Given the description of an element on the screen output the (x, y) to click on. 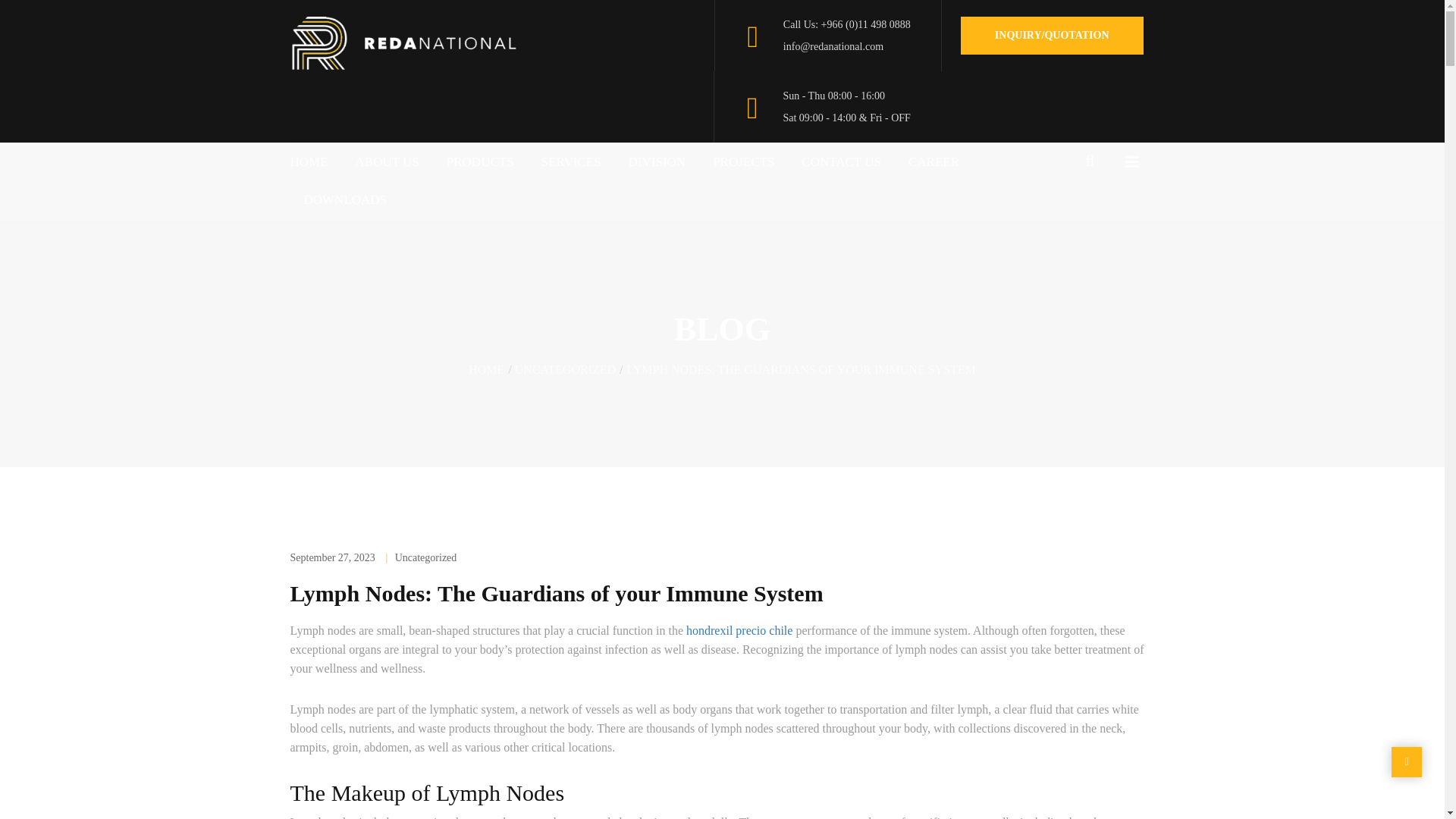
ABOUT US (387, 162)
HOME (314, 162)
SERVICES (570, 162)
PRODUCTS (479, 162)
DIVISION (657, 162)
